Given the description of an element on the screen output the (x, y) to click on. 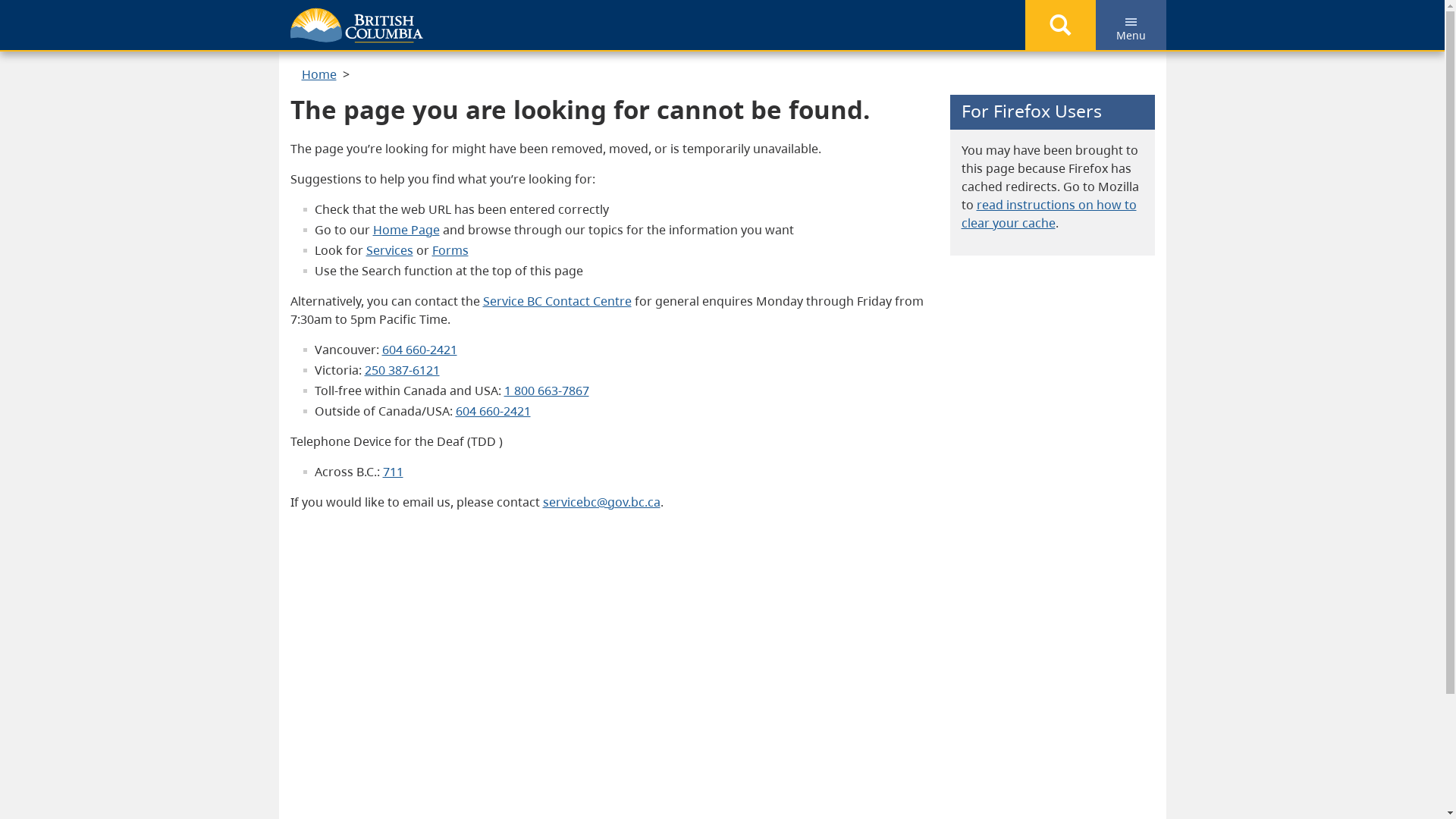
Home Page Element type: text (406, 229)
604 660-2421 Element type: text (419, 349)
read instructions on how to clear your cache Element type: text (1048, 213)
Forms Element type: text (450, 249)
604 660-2421 Element type: text (492, 410)
Home Element type: text (318, 73)
1 800 663-7867 Element type: text (545, 390)
servicebc@gov.bc.ca Element type: text (601, 501)
Services Element type: text (388, 249)
Menu Element type: text (1130, 25)
Service BC Contact Centre Element type: text (556, 300)
250 387-6121 Element type: text (401, 369)
711 Element type: text (392, 471)
Government of B.C. Element type: hover (355, 25)
Menu Element type: hover (1130, 21)
